Given the description of an element on the screen output the (x, y) to click on. 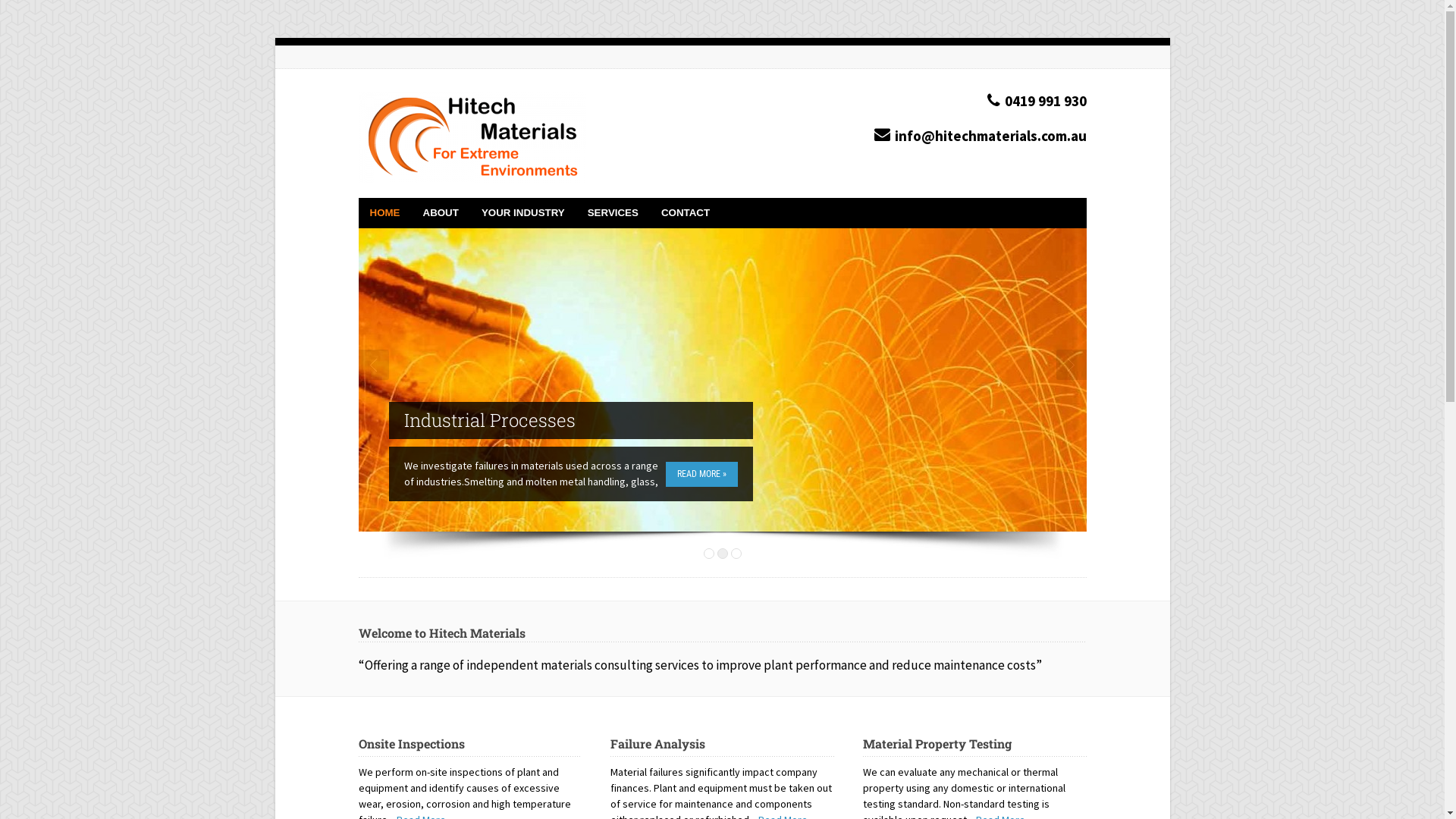
Permanent Link to Mining & Mineral Processors Element type: hover (721, 379)
ABOUT Element type: text (440, 212)
2 Element type: text (722, 553)
CONTACT Element type: text (685, 212)
1 Element type: text (708, 553)
HOME Element type: text (384, 212)
Mining & Mineral Processors Element type: text (570, 420)
YOUR INDUSTRY Element type: text (523, 212)
Onsite Inspections Element type: text (410, 743)
Next Element type: text (1070, 364)
3 Element type: text (736, 553)
Material Property Testing Element type: text (936, 743)
Previous Element type: text (372, 364)
SERVICES Element type: text (612, 212)
Failure Analysis Element type: text (657, 743)
